Given the description of an element on the screen output the (x, y) to click on. 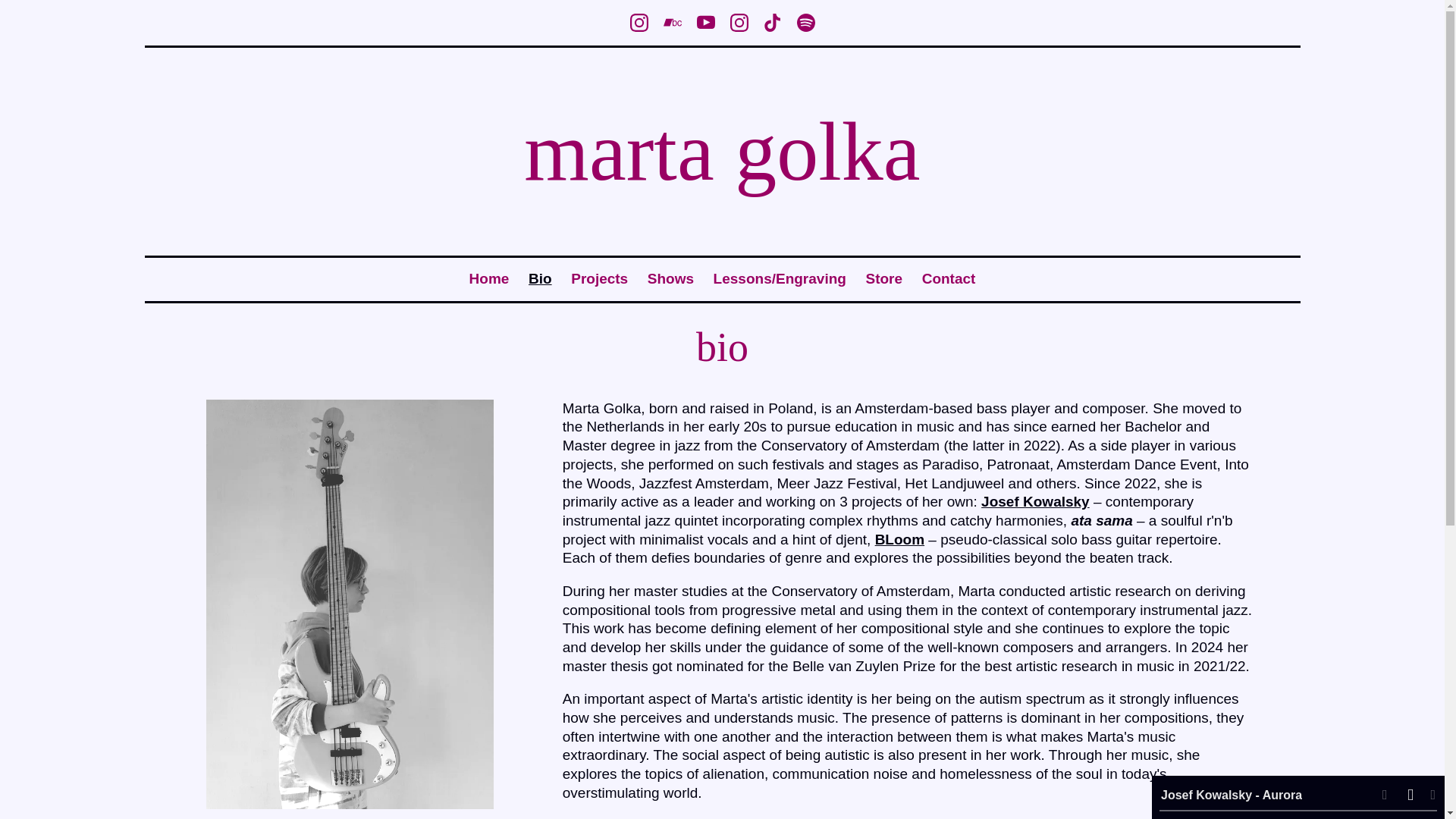
Projects (598, 279)
Contact (948, 279)
Store (883, 279)
Home (488, 279)
BLoom (899, 539)
Shows (670, 279)
Josef Kowalsky (1035, 501)
marta golka (722, 172)
Bio (539, 279)
